Given the description of an element on the screen output the (x, y) to click on. 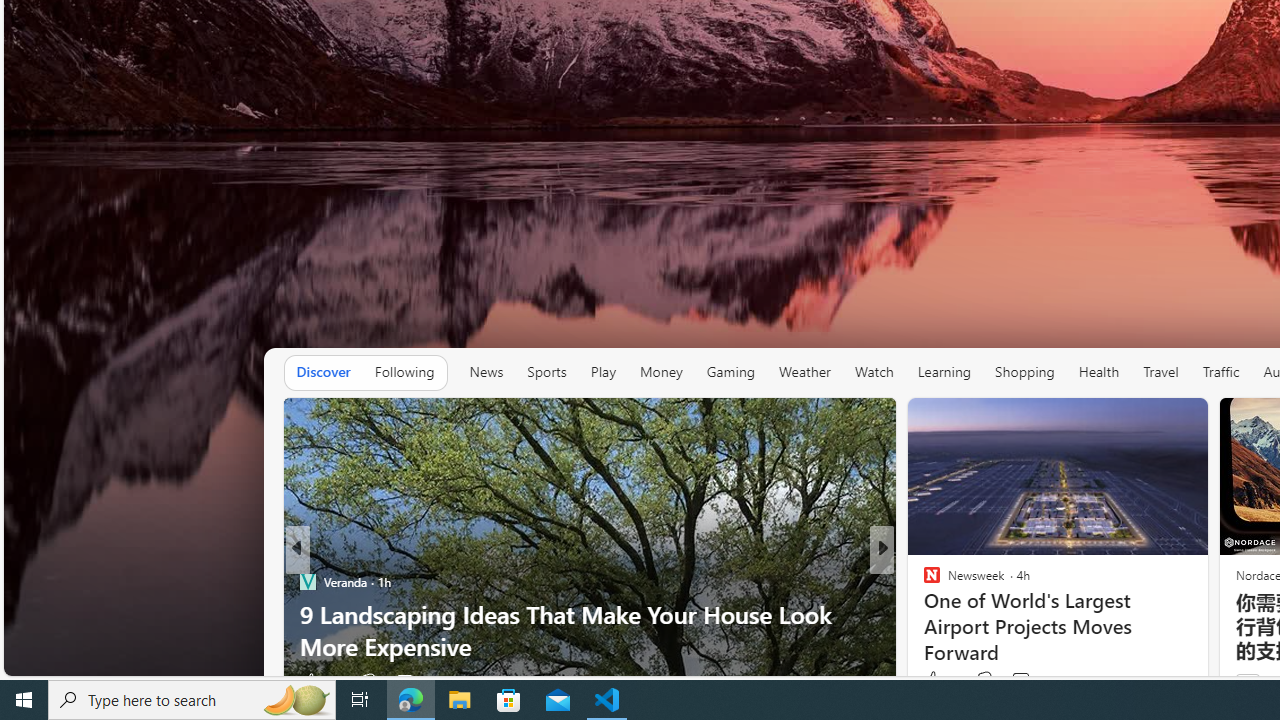
Fortune (923, 581)
19 Like (939, 680)
Hemmings (923, 581)
View comments 52 Comment (404, 681)
View comments 22 Comment (1029, 681)
View comments 65 Comment (1029, 681)
85 Like (934, 681)
129 Like (936, 681)
Business Insider (307, 581)
